Given the description of an element on the screen output the (x, y) to click on. 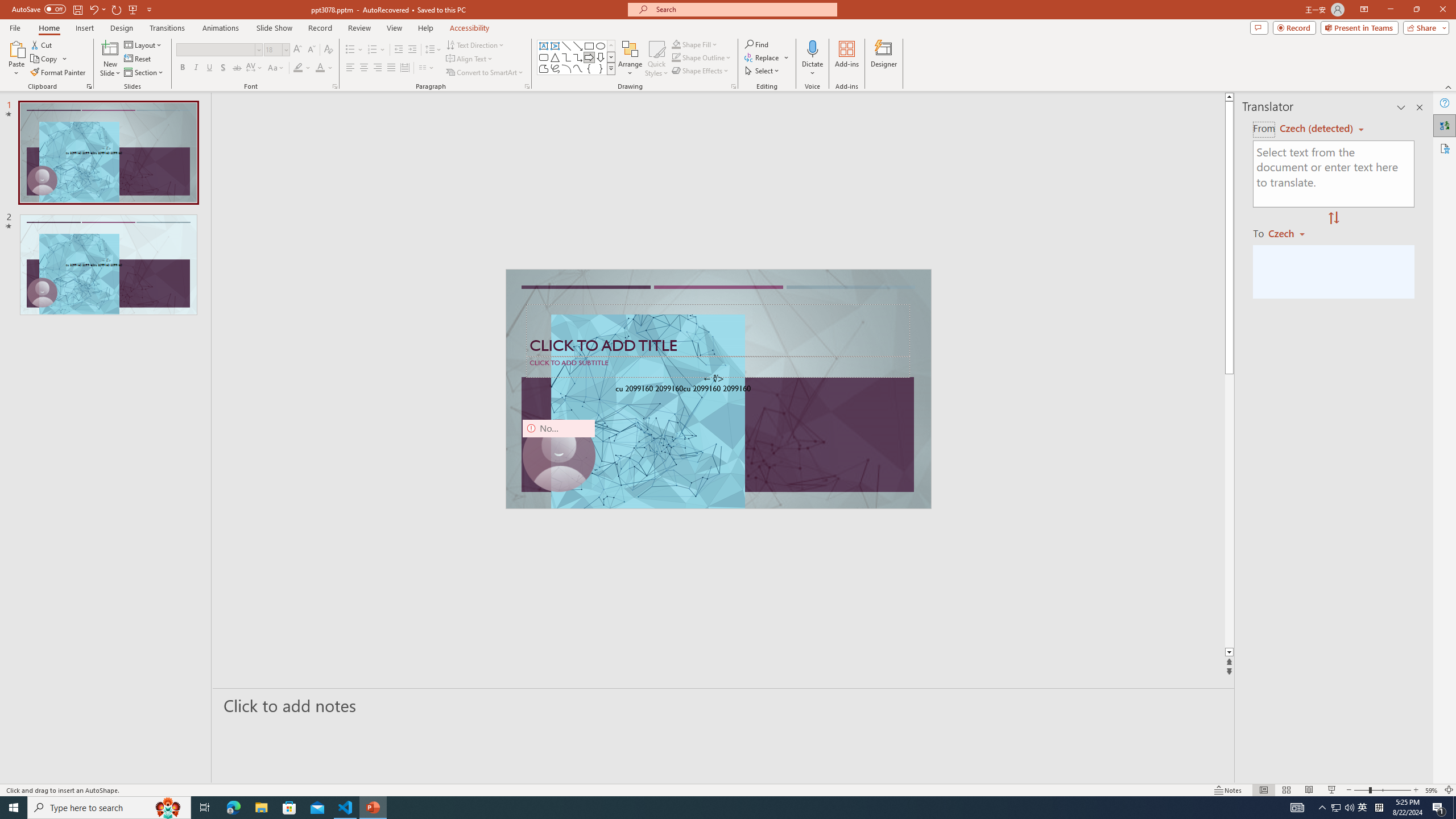
Zoom 59% (1431, 790)
Shape Fill Dark Green, Accent 2 (675, 44)
